Given the description of an element on the screen output the (x, y) to click on. 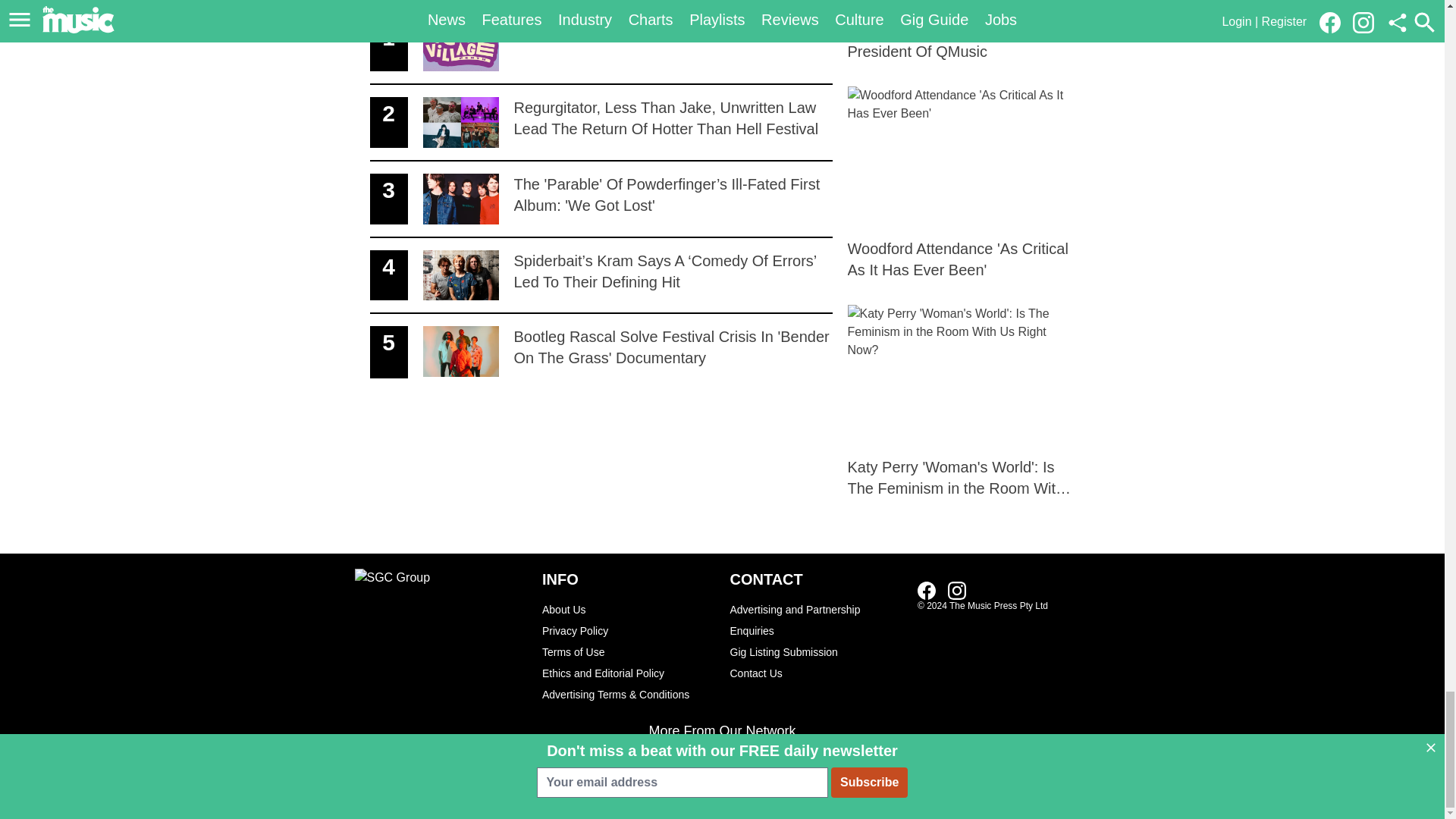
Link to our Facebook (926, 590)
Link to our Instagram (600, 47)
